Given the description of an element on the screen output the (x, y) to click on. 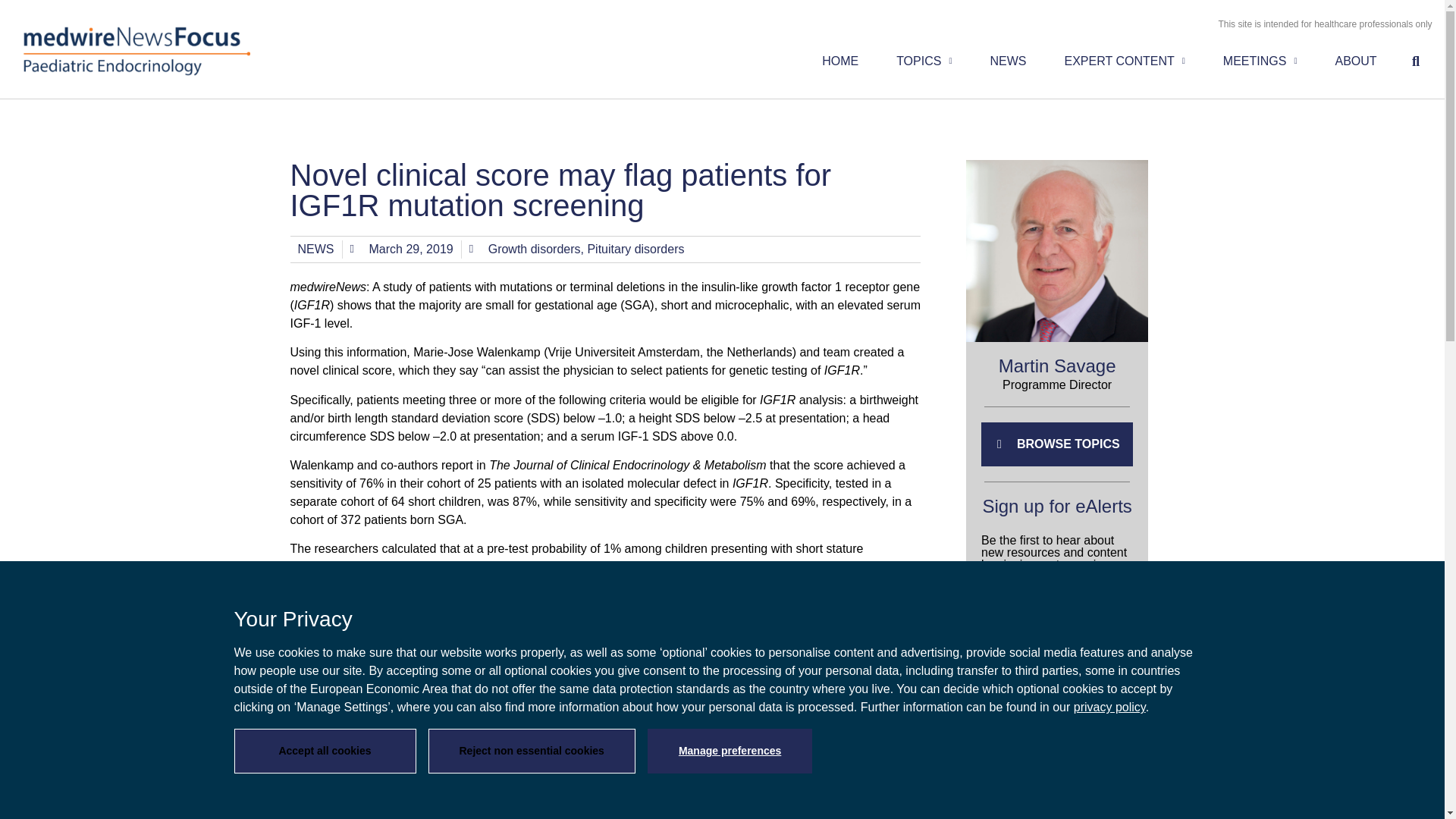
EXPERT CONTENT (1124, 61)
ABOUT (1355, 61)
MEETINGS (1260, 61)
This site is intended for healthcare professionals only (1324, 23)
Accept all cookies (323, 750)
HOME (839, 61)
TOPICS (923, 61)
NEWS (1008, 61)
Reject non essential cookies (531, 750)
Manage preferences (729, 750)
privacy policy (1109, 707)
